Given the description of an element on the screen output the (x, y) to click on. 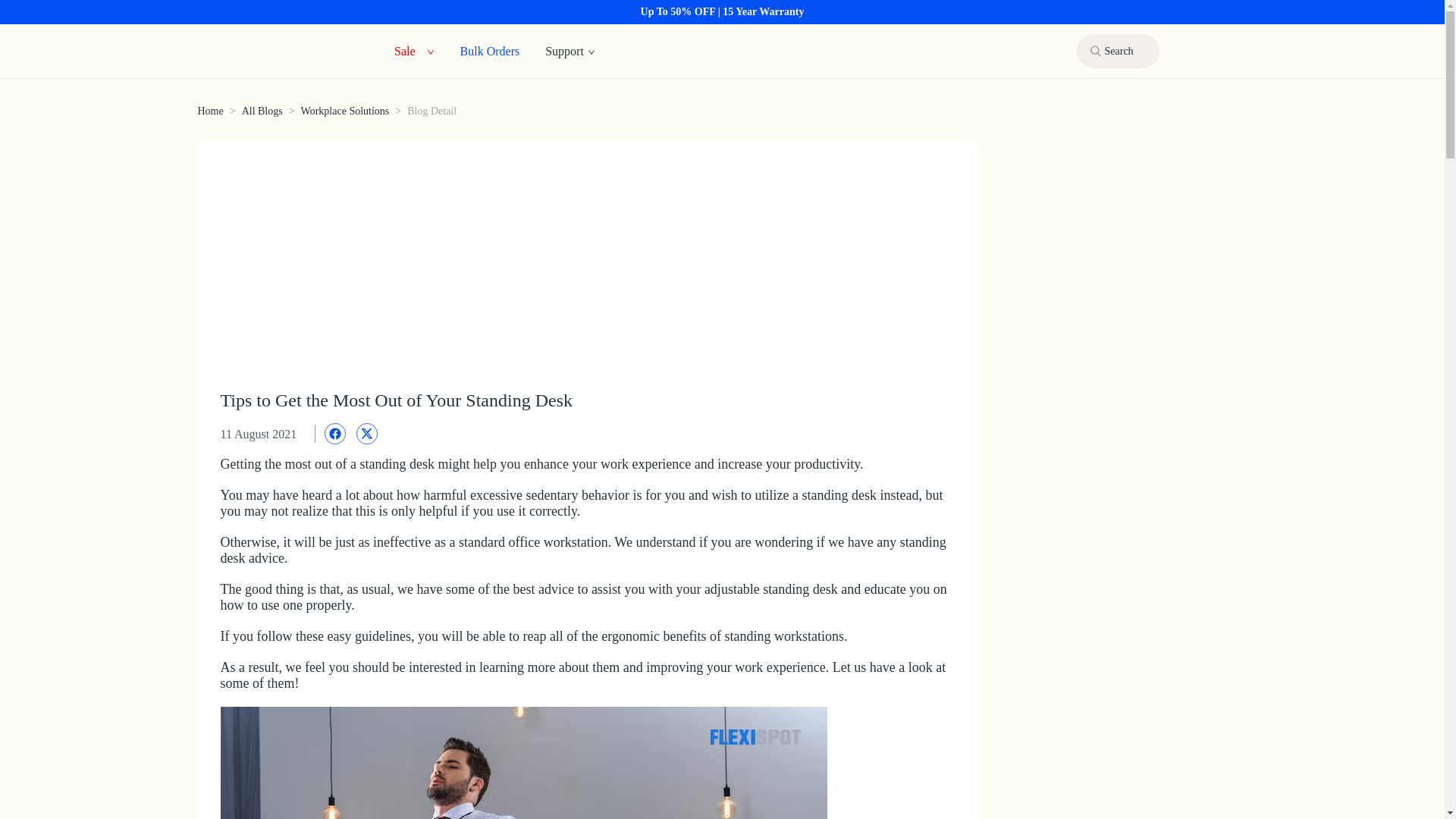
Workplace Solutions (345, 111)
Bulk Orders (489, 50)
Stretch During Your Standing Time (523, 762)
All Blogs (261, 111)
Sale (405, 50)
Home (209, 111)
